Given the description of an element on the screen output the (x, y) to click on. 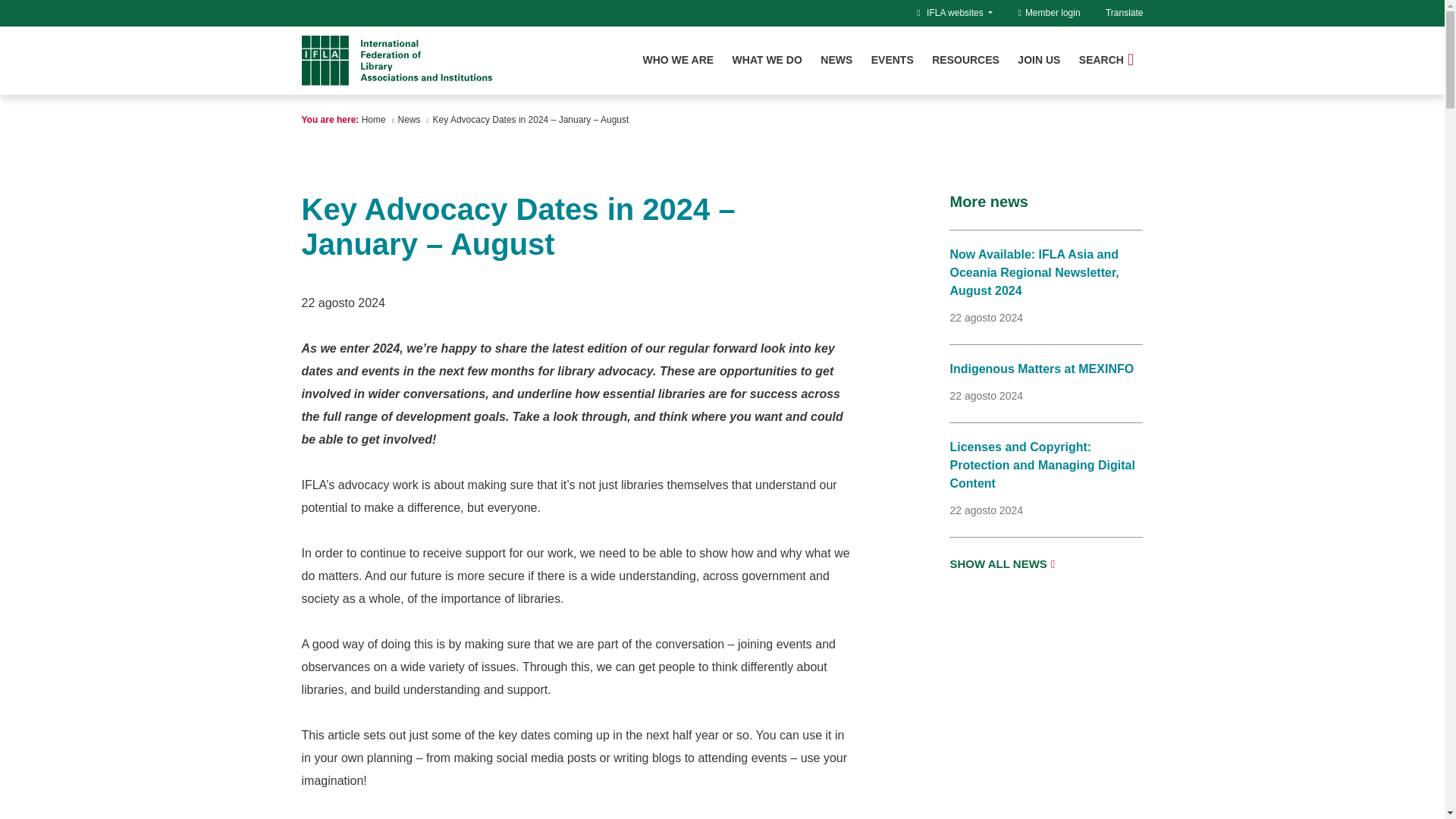
WHO WE ARE (678, 60)
WHAT WE DO (767, 60)
IFLA websites (959, 12)
news (408, 119)
RESOURCES (964, 60)
Translate (1123, 12)
Member login (1048, 12)
Home (373, 119)
